Given the description of an element on the screen output the (x, y) to click on. 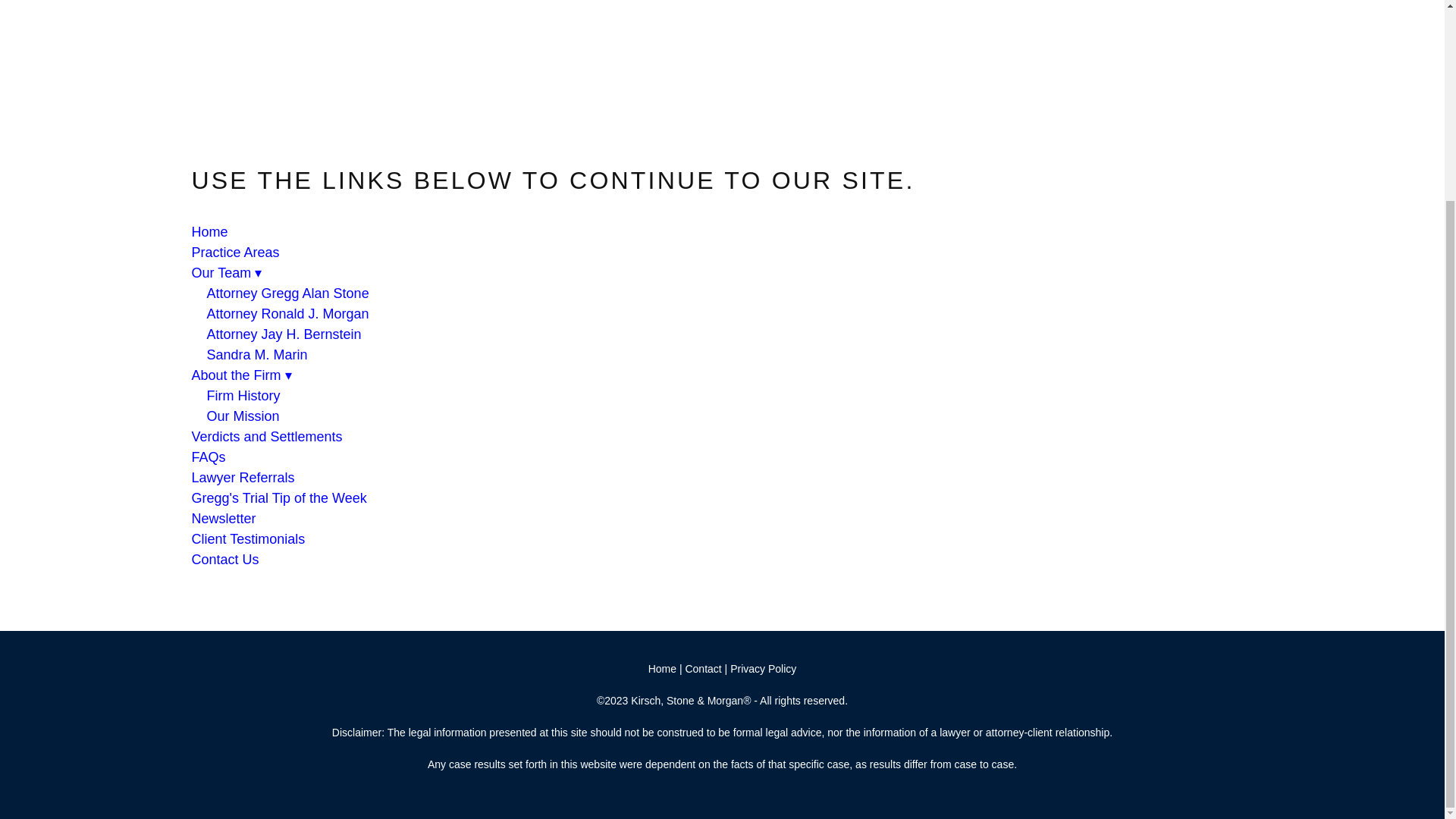
Client Testimonials (247, 539)
Firm History (242, 395)
Gregg's Trial Tip of the Week (278, 498)
Verdicts and Settlements (266, 436)
FAQs (207, 457)
Contact (703, 668)
Attorney Gregg Alan Stone (287, 293)
Attorney Ronald J. Morgan (287, 313)
Lawyer Referrals (242, 477)
Practice Areas (234, 252)
